Given the description of an element on the screen output the (x, y) to click on. 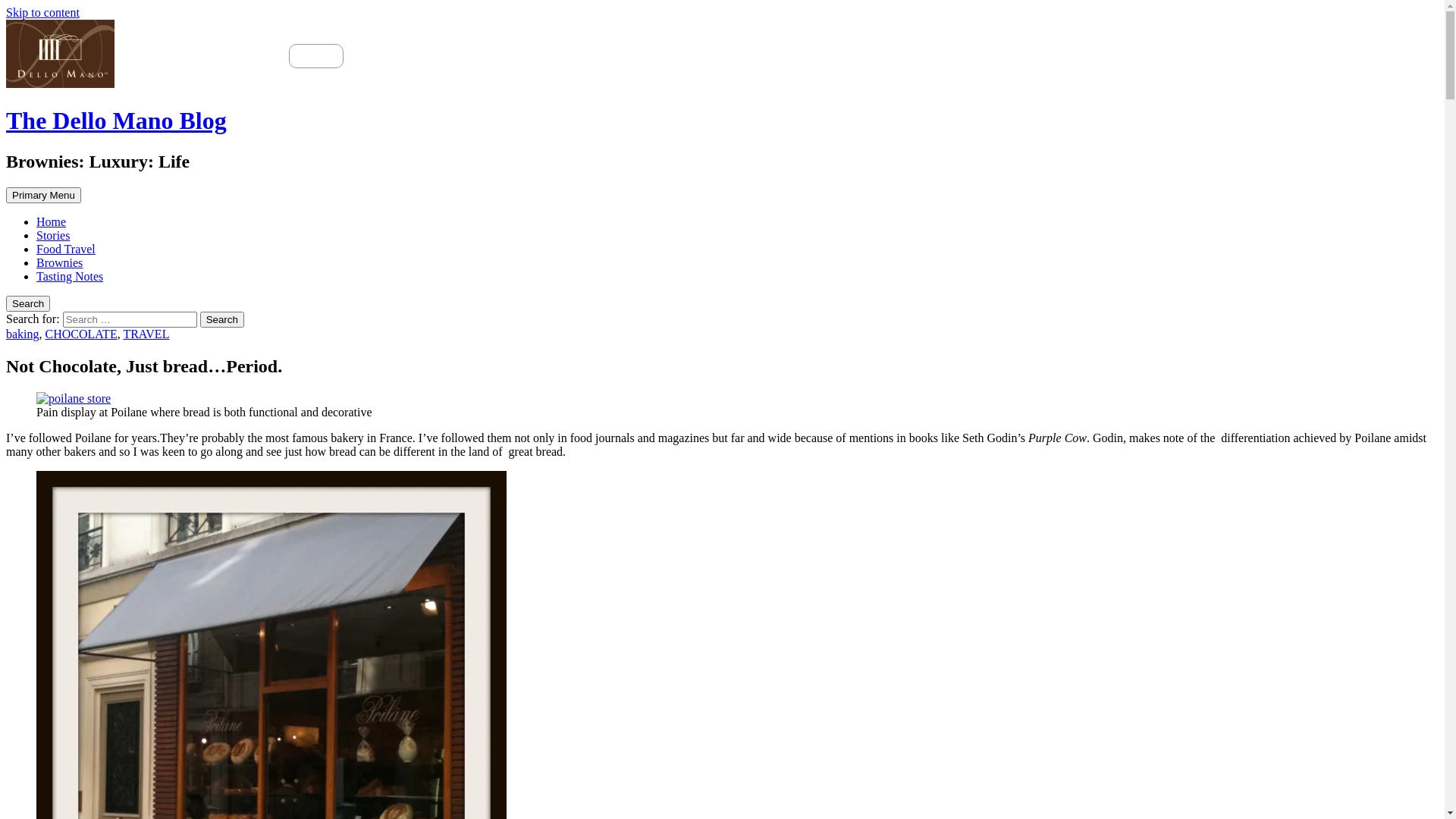
Search Element type: text (222, 319)
Brownies Element type: text (59, 262)
Tasting Notes Element type: text (69, 275)
baking Element type: text (22, 333)
Food Travel Element type: text (65, 248)
CHOCOLATE Element type: text (81, 333)
TRAVEL Element type: text (145, 333)
poilane 3 Element type: hover (73, 398)
Search Element type: text (28, 303)
Home Element type: text (50, 221)
Skip to content Element type: text (42, 12)
Primary Menu Element type: text (43, 195)
Stories Element type: text (52, 235)
The Dello Mano Blog Element type: text (116, 120)
